Given the description of an element on the screen output the (x, y) to click on. 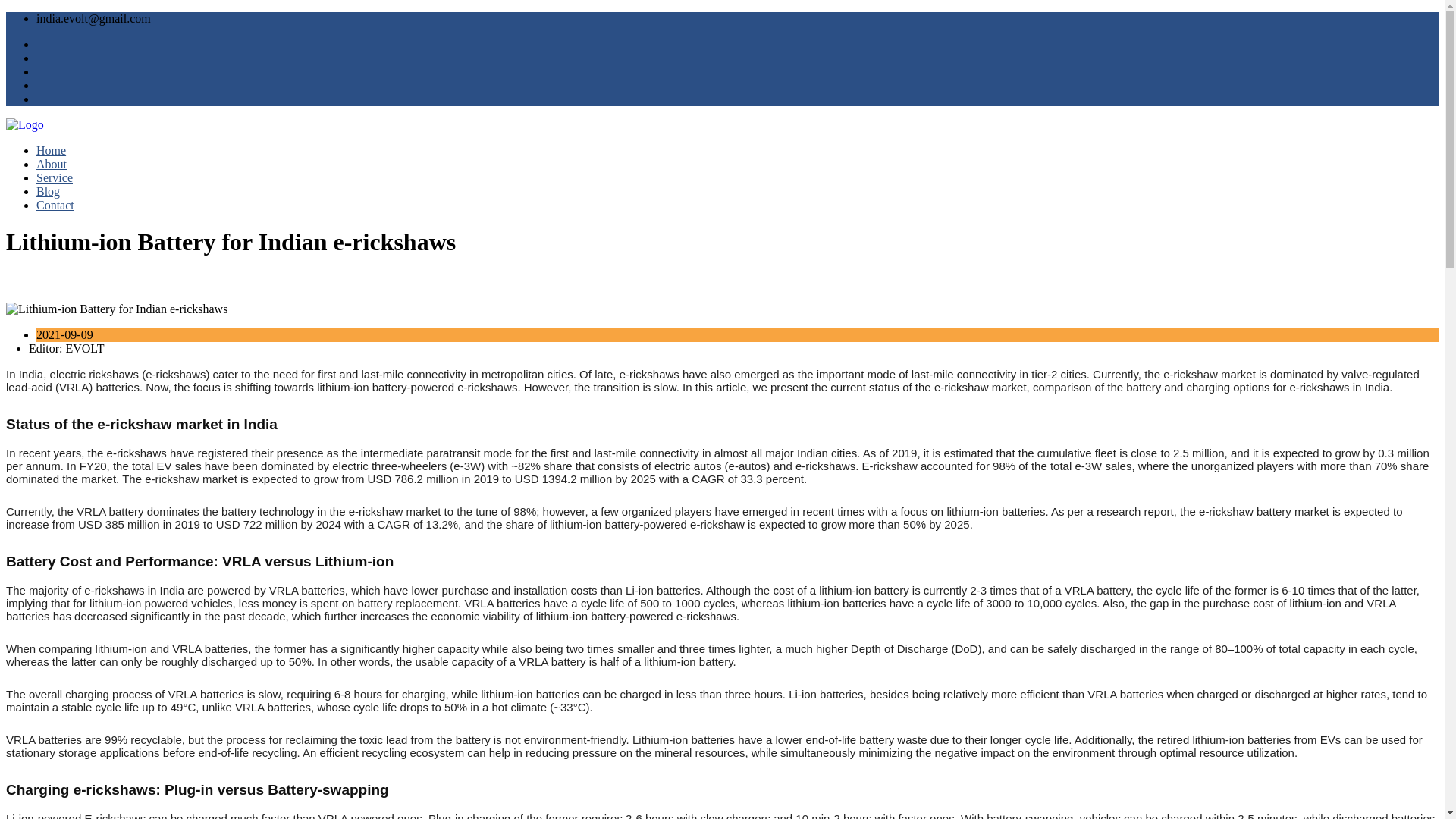
About (51, 164)
Service (54, 177)
Blog (47, 191)
Contact (55, 205)
Home (50, 150)
